Given the description of an element on the screen output the (x, y) to click on. 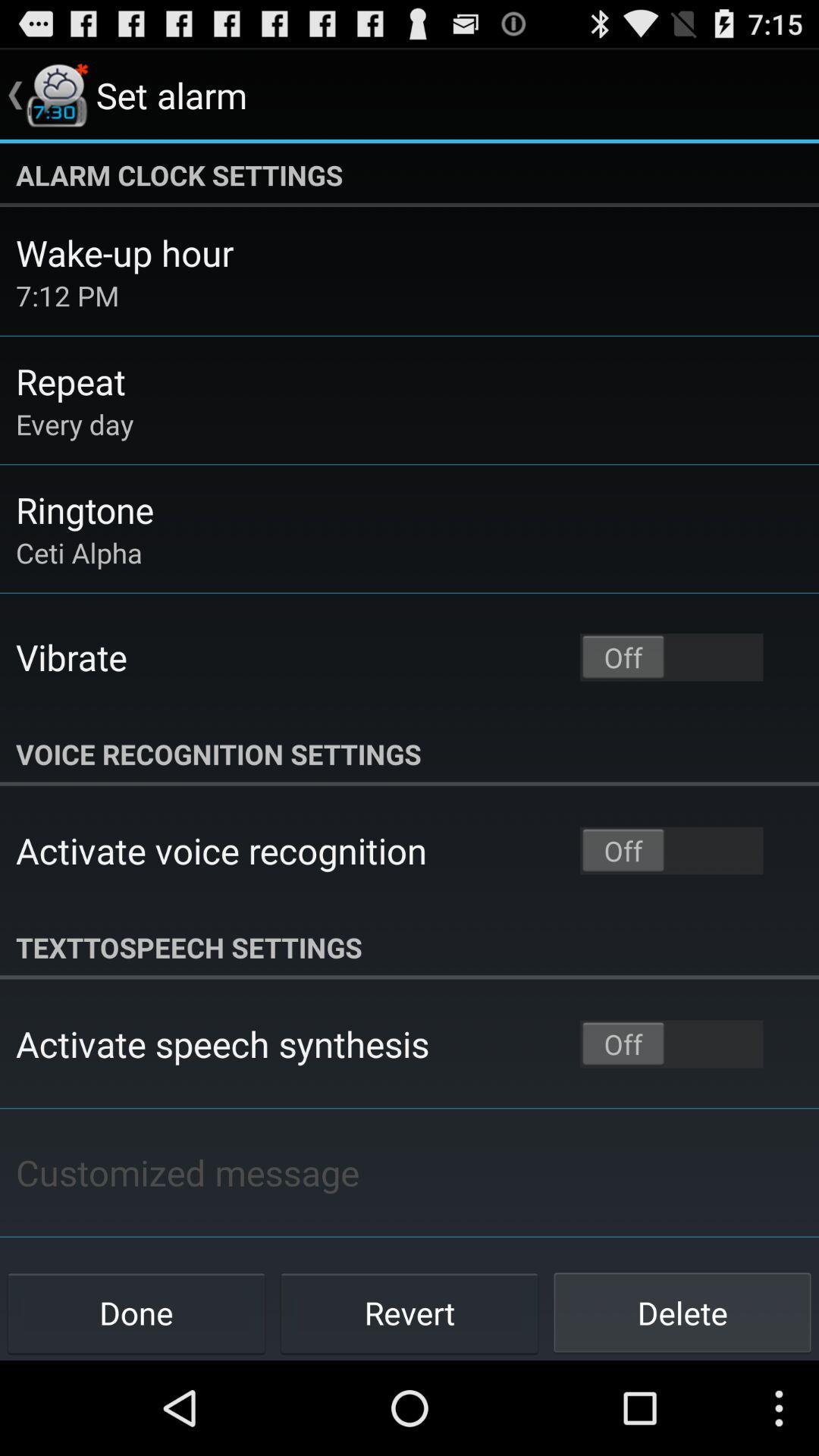
jump until done (136, 1312)
